Given the description of an element on the screen output the (x, y) to click on. 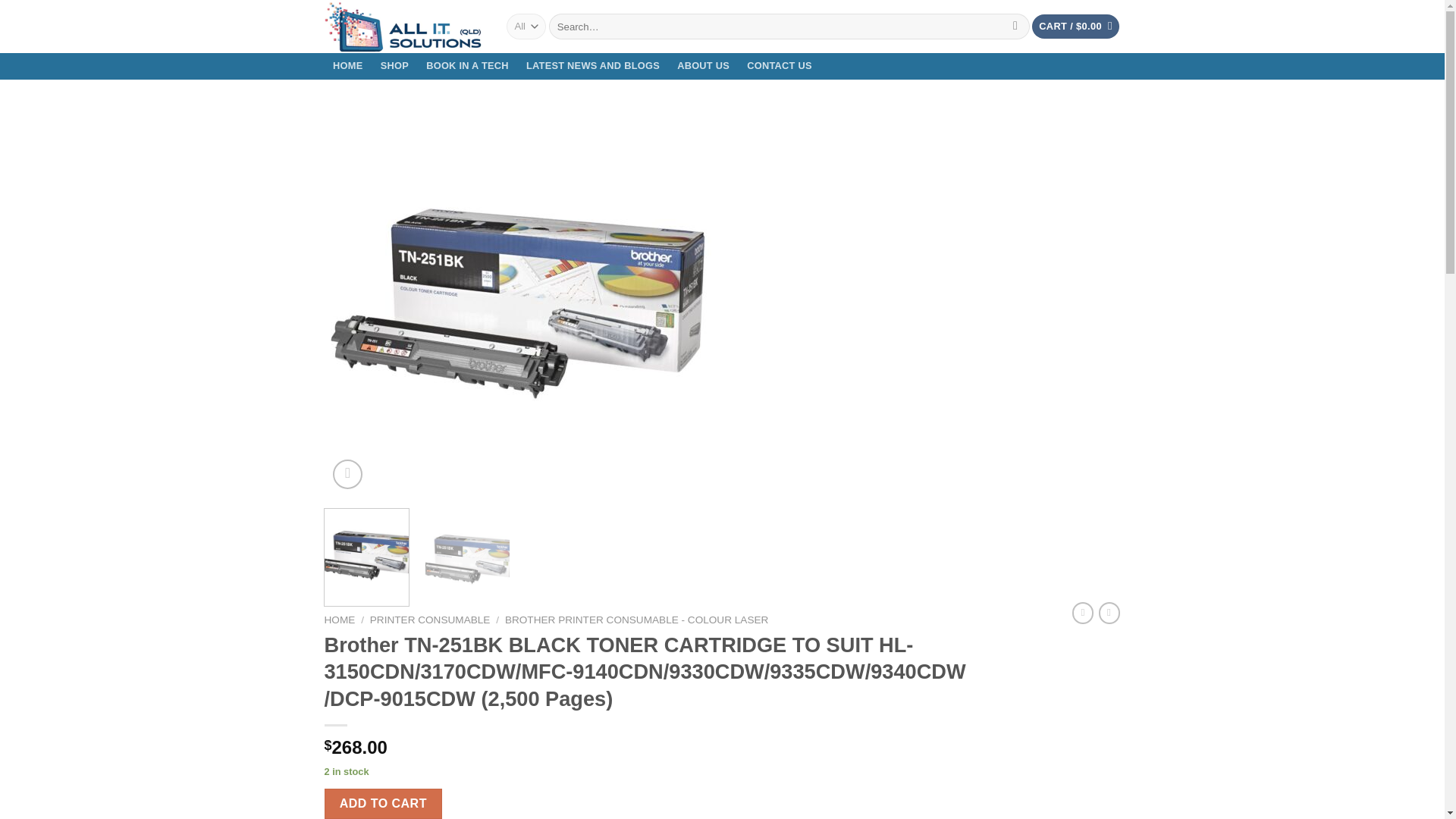
Search (1015, 26)
CONTACT US (779, 66)
ADD TO CART (383, 803)
Zoom (347, 473)
BOOK IN A TECH (467, 66)
LATEST NEWS AND BLOGS (592, 66)
SHOP (393, 66)
HOME (339, 619)
HOME (348, 66)
Cart (1075, 26)
PRINTER CONSUMABLE (429, 619)
ABOUT US (703, 66)
BROTHER PRINTER CONSUMABLE - COLOUR LASER (636, 619)
